Given the description of an element on the screen output the (x, y) to click on. 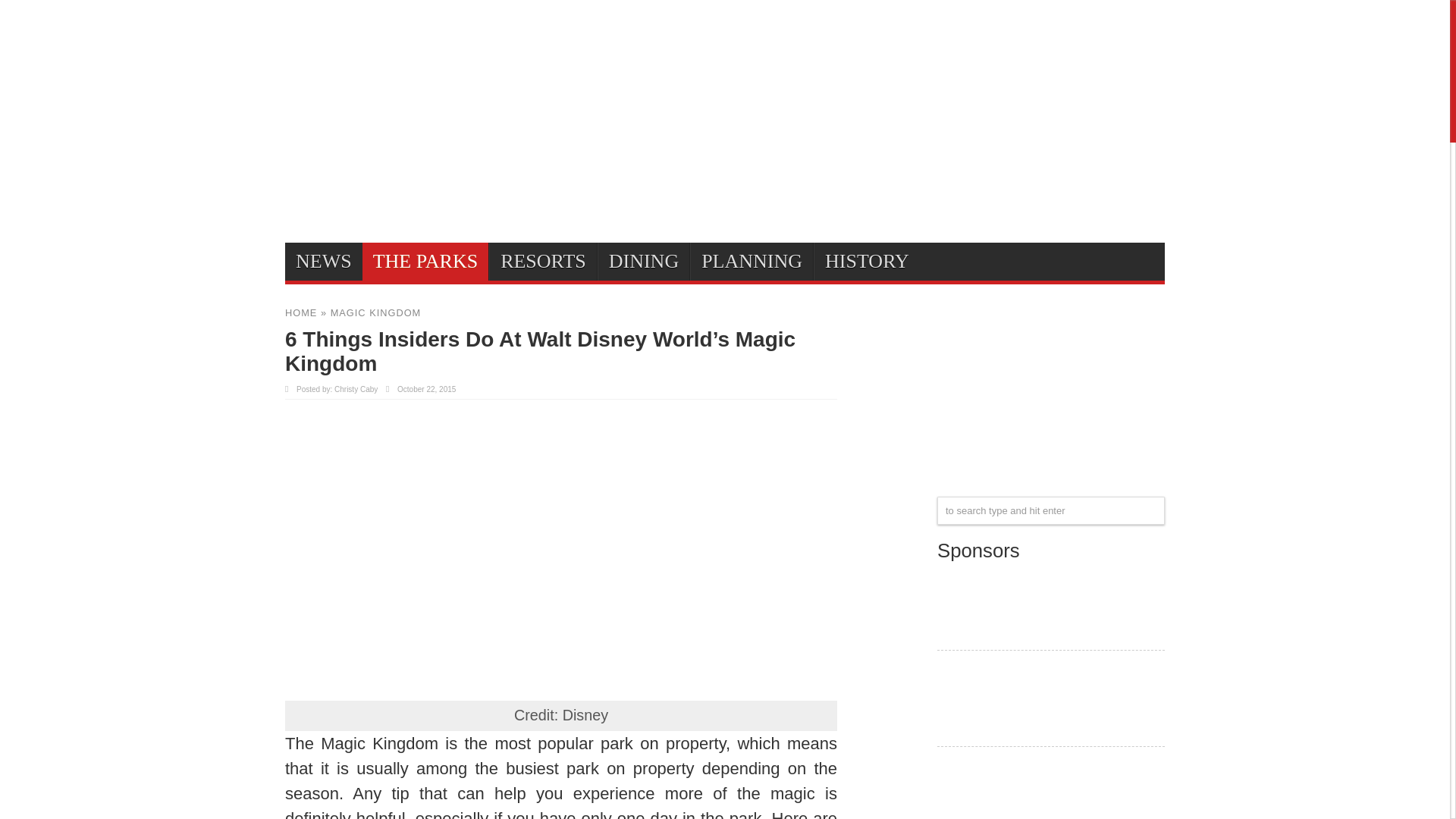
MAGIC KINGDOM (376, 312)
PLANNING (751, 261)
to search type and hit enter (1050, 510)
WDW Magazine (1050, 631)
DINING (642, 261)
WDW Magazine (1050, 599)
NEWS (323, 261)
HISTORY (866, 261)
RESORTS (542, 261)
HOME (301, 312)
THE PARKS (424, 261)
DisneyTips.com (341, 121)
Christy Caby (355, 388)
